Given the description of an element on the screen output the (x, y) to click on. 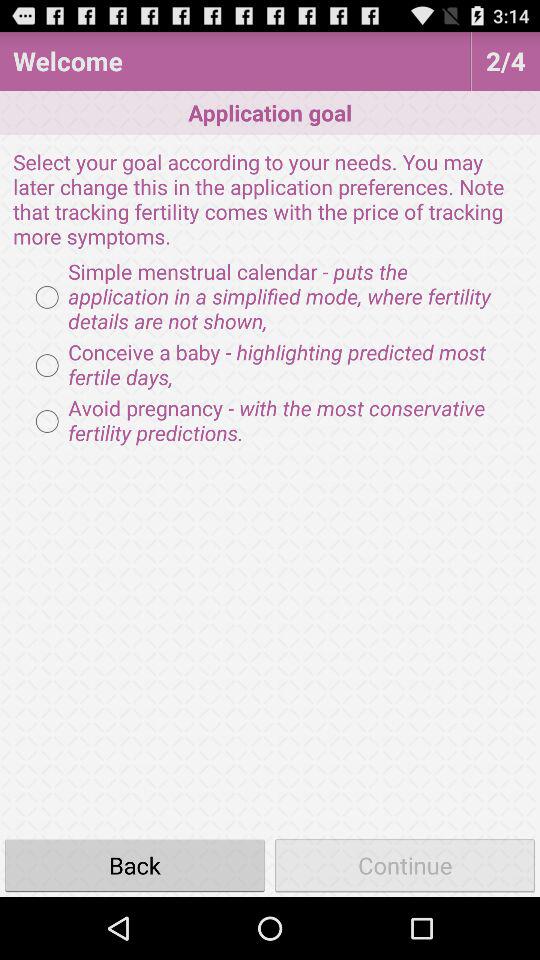
press the icon below conceive a baby item (269, 421)
